Given the description of an element on the screen output the (x, y) to click on. 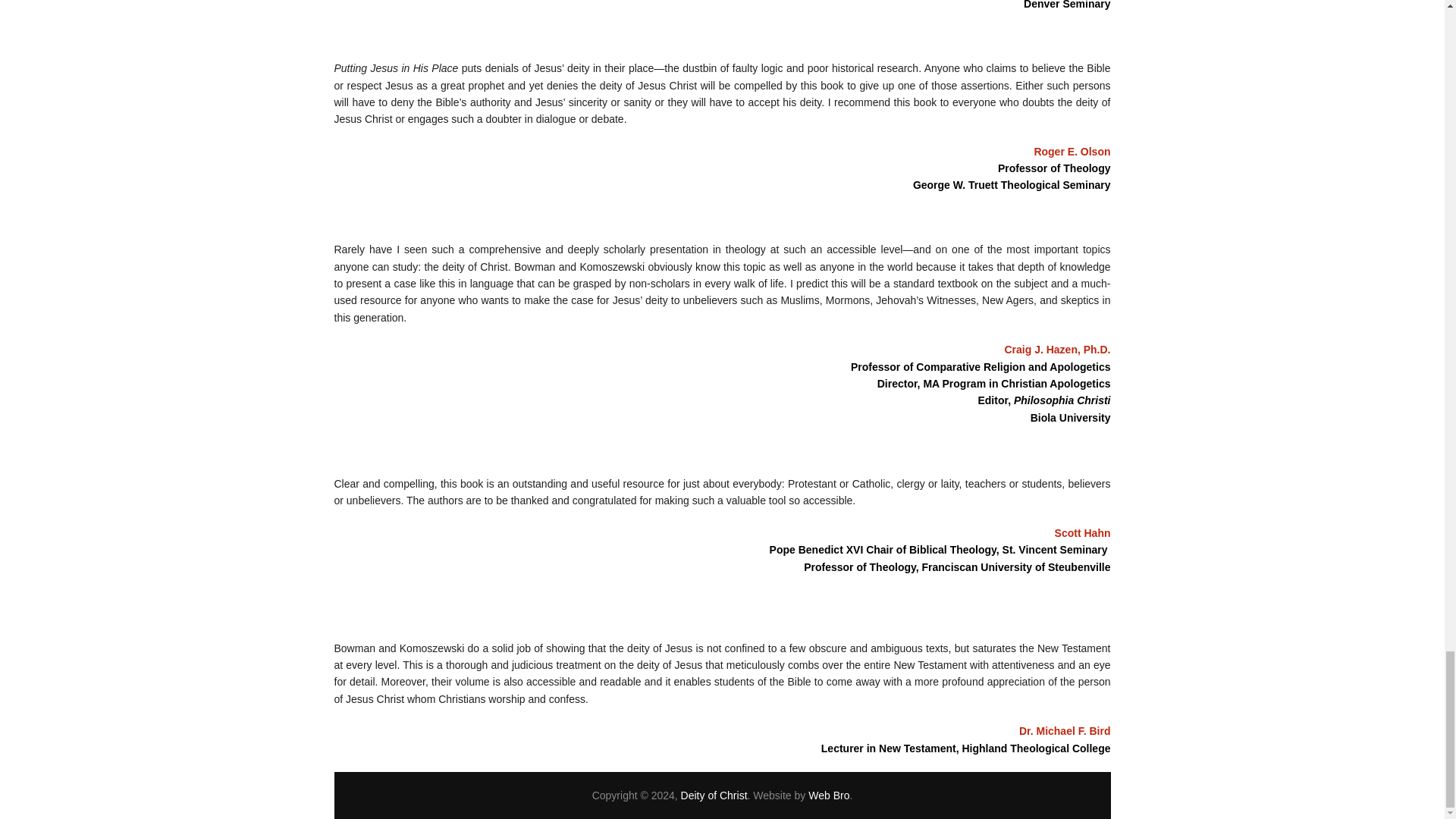
Deity of Christ (714, 795)
Web Bro (828, 795)
Web Bro (828, 795)
